Given the description of an element on the screen output the (x, y) to click on. 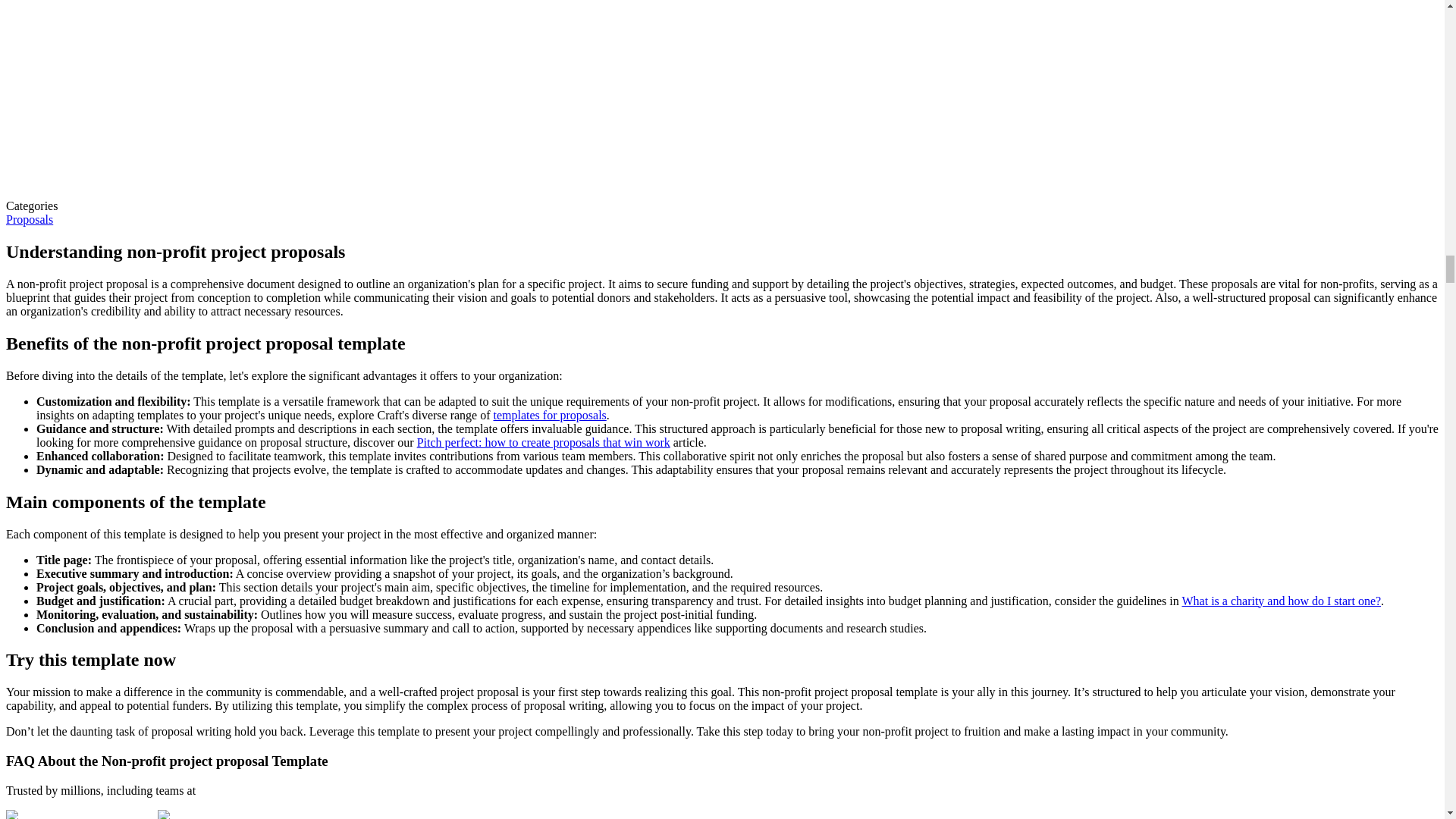
templates for proposals (549, 414)
What is a charity and how do I start one? (1280, 600)
Pitch perfect: how to create proposals that win work (542, 441)
Proposals (28, 219)
